Given the description of an element on the screen output the (x, y) to click on. 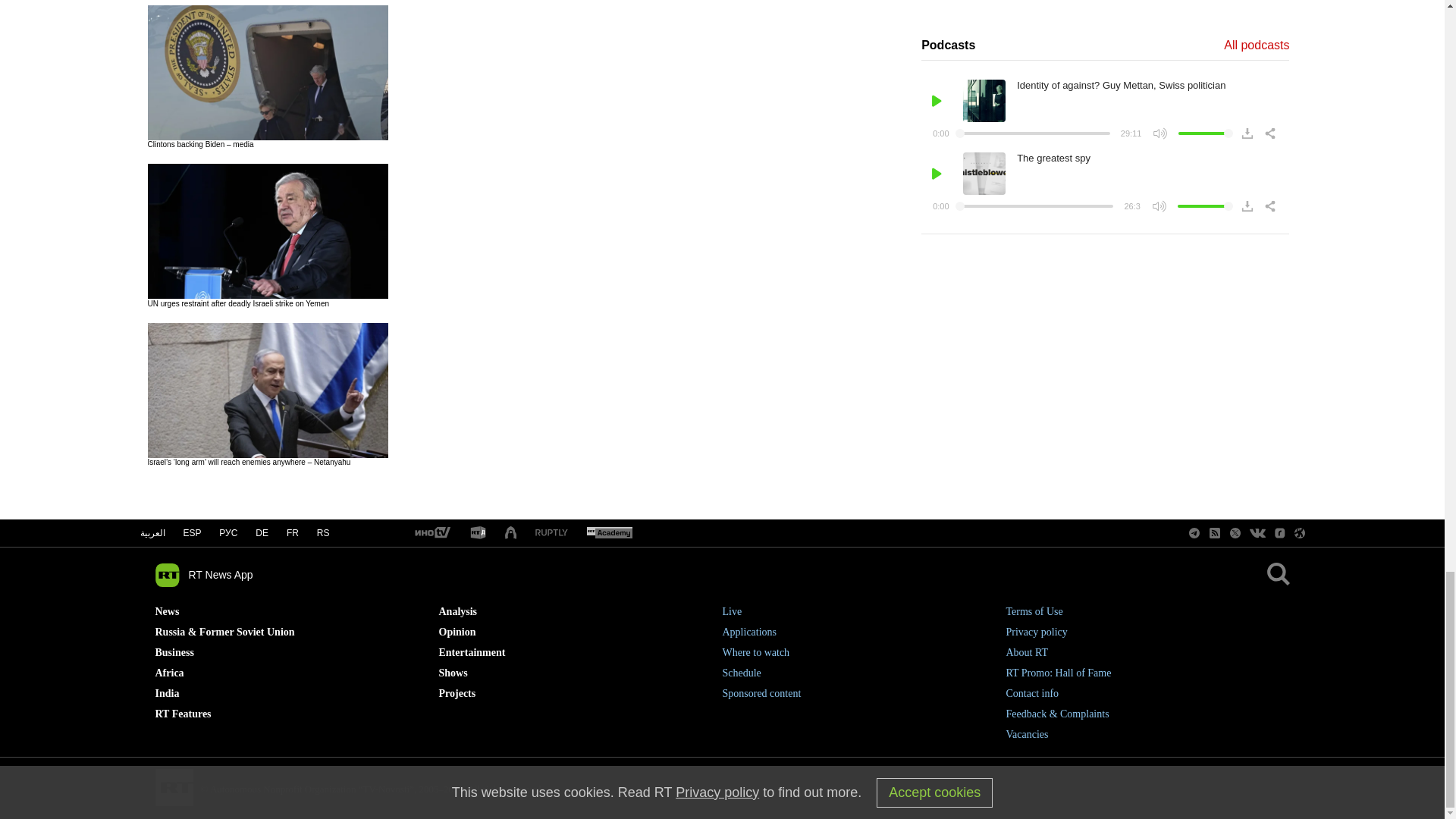
RT  (551, 533)
RT  (608, 533)
RT  (431, 533)
RT  (478, 533)
